Given the description of an element on the screen output the (x, y) to click on. 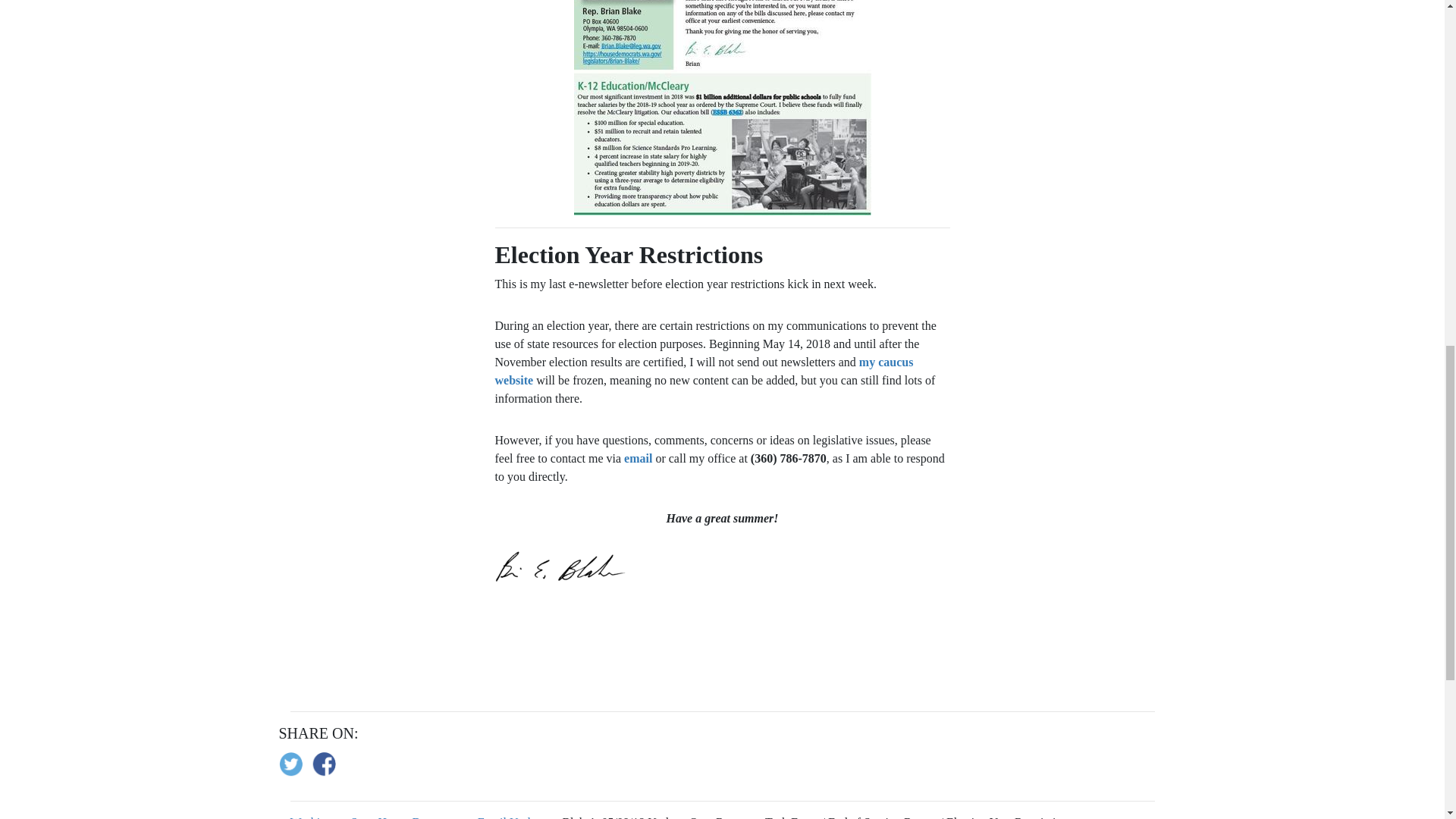
Email Updates (513, 817)
Facebook (329, 764)
my caucus website (703, 370)
Twitter (296, 764)
email (638, 458)
Washington State House Democrats (376, 817)
